Given the description of an element on the screen output the (x, y) to click on. 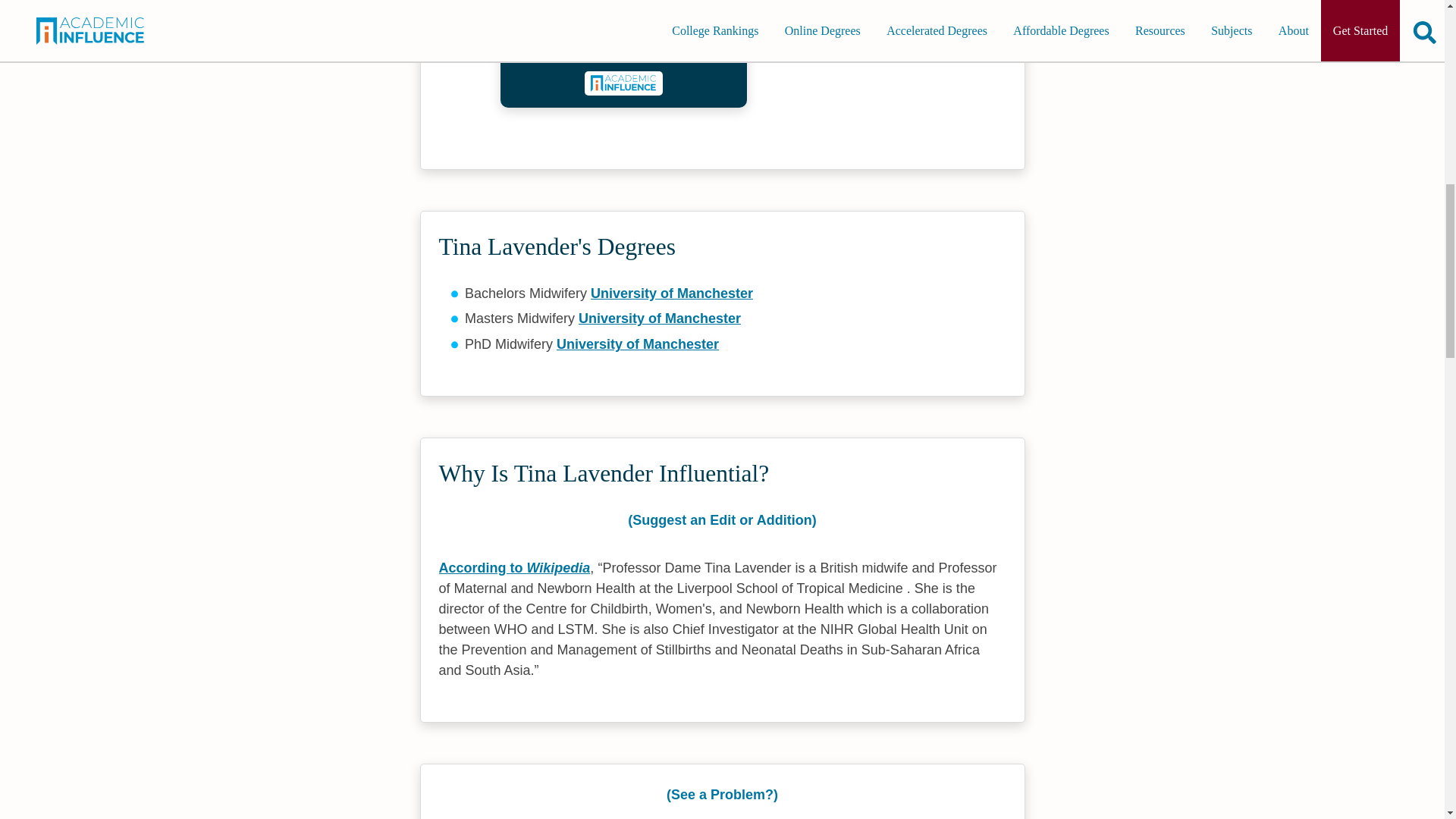
University of Manchester (637, 344)
Philosophy Degrees (622, 48)
According to Wikipedia (513, 567)
University of Manchester (671, 293)
University of Manchester (659, 318)
